Given the description of an element on the screen output the (x, y) to click on. 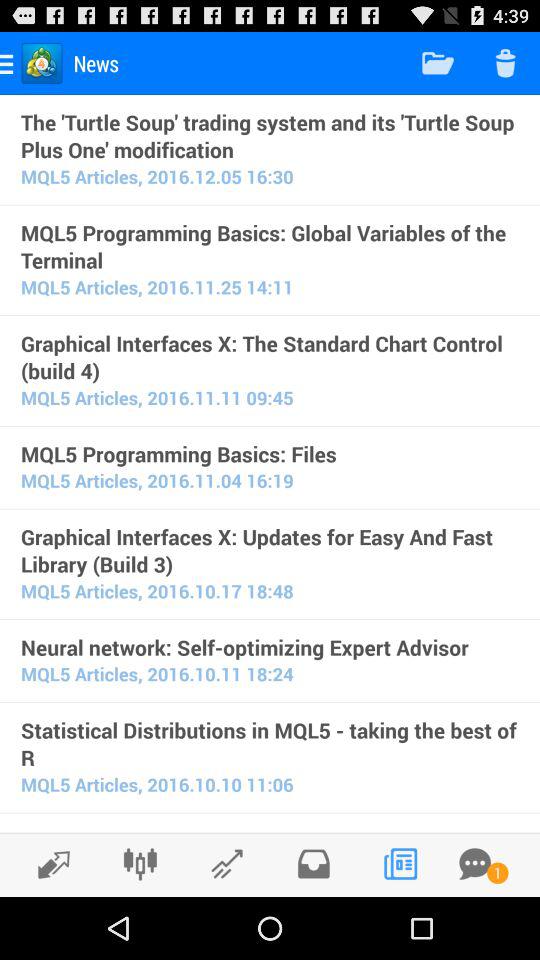
view comprehensive analysis (140, 863)
